Given the description of an element on the screen output the (x, y) to click on. 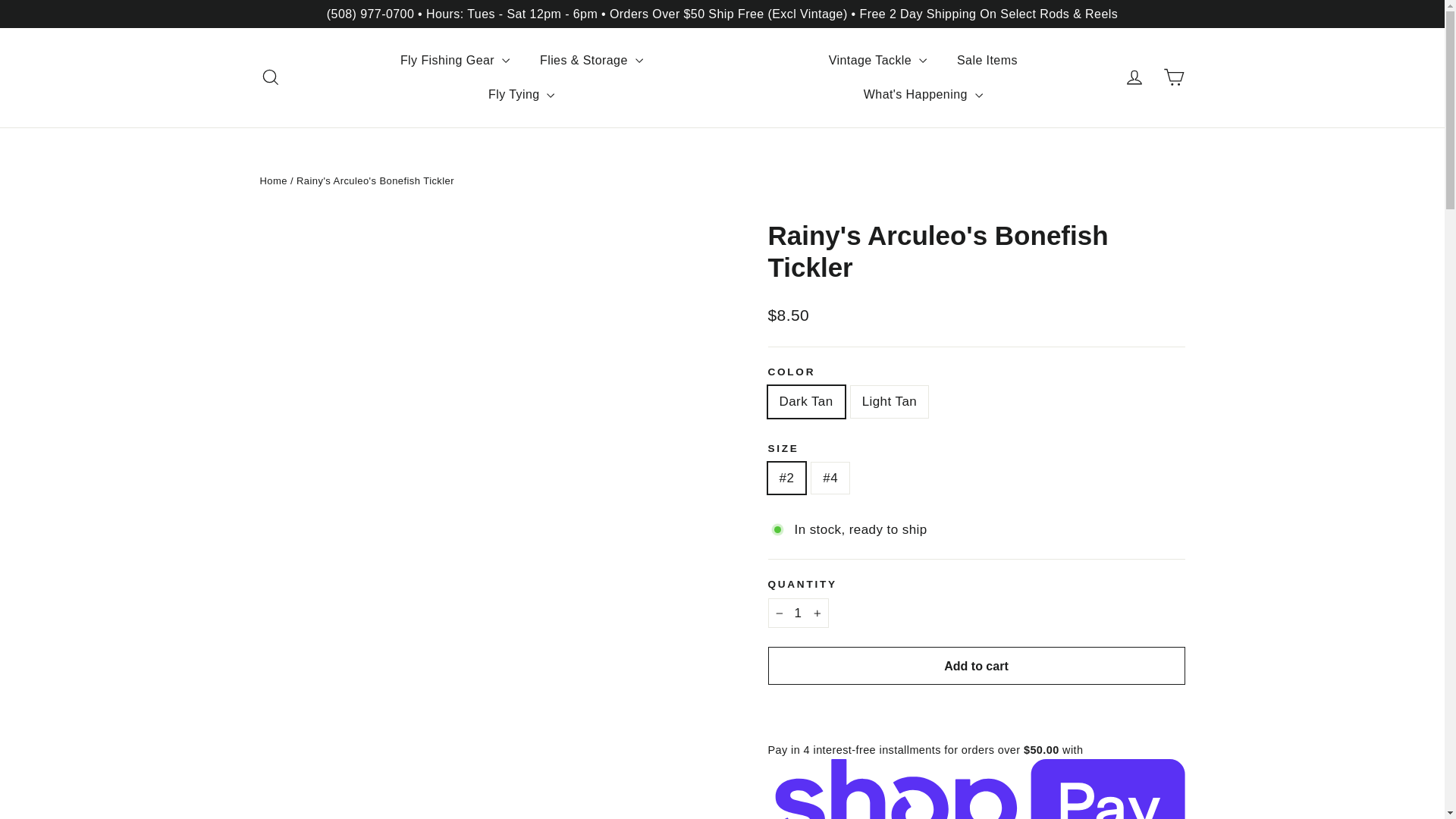
icon-search (270, 76)
Back to the frontpage (272, 180)
icon-cart (1174, 76)
account (1134, 76)
1 (797, 613)
